Given the description of an element on the screen output the (x, y) to click on. 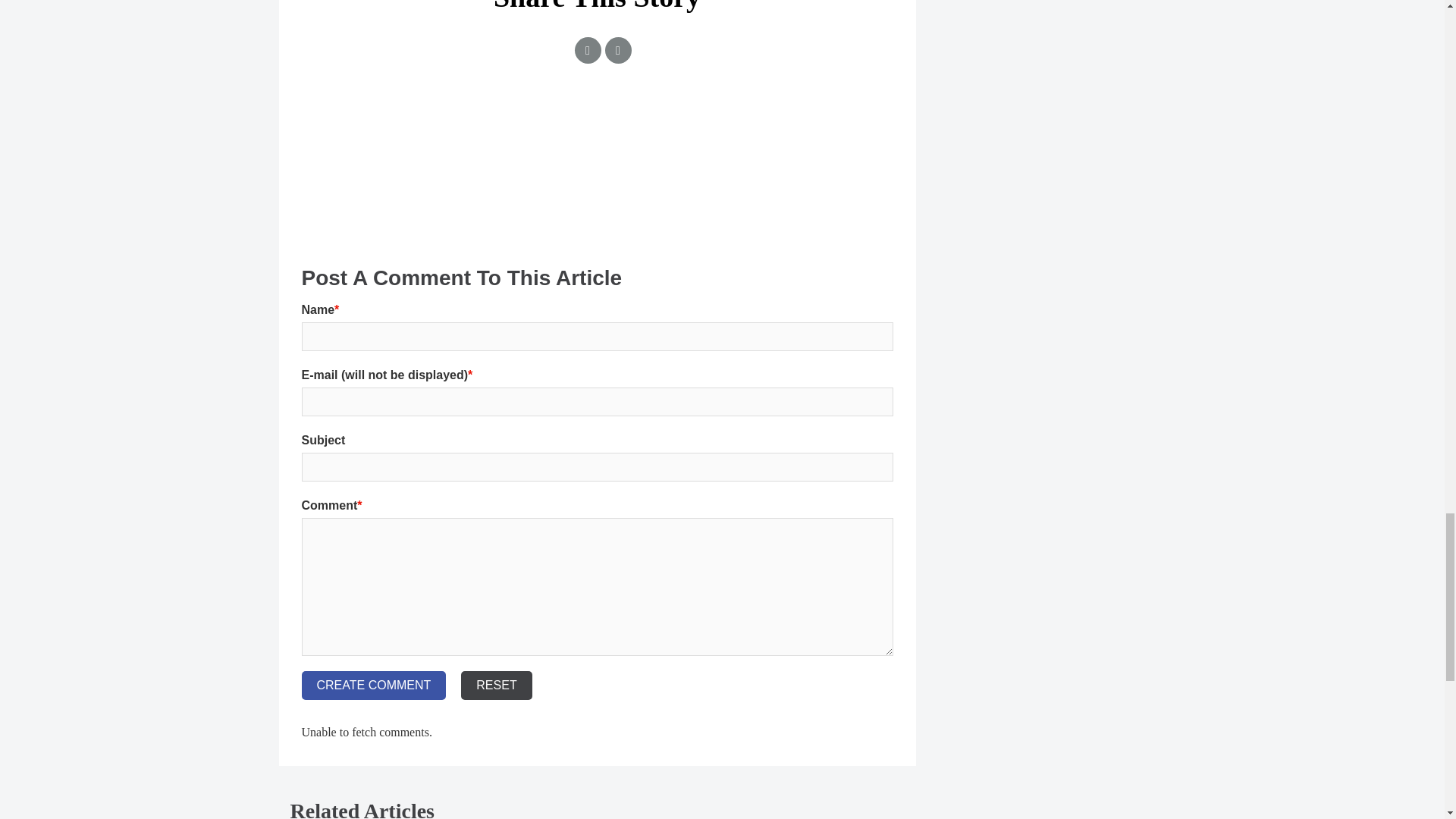
Reset (496, 685)
Create Comment (373, 685)
Interaction questions (597, 169)
